Given the description of an element on the screen output the (x, y) to click on. 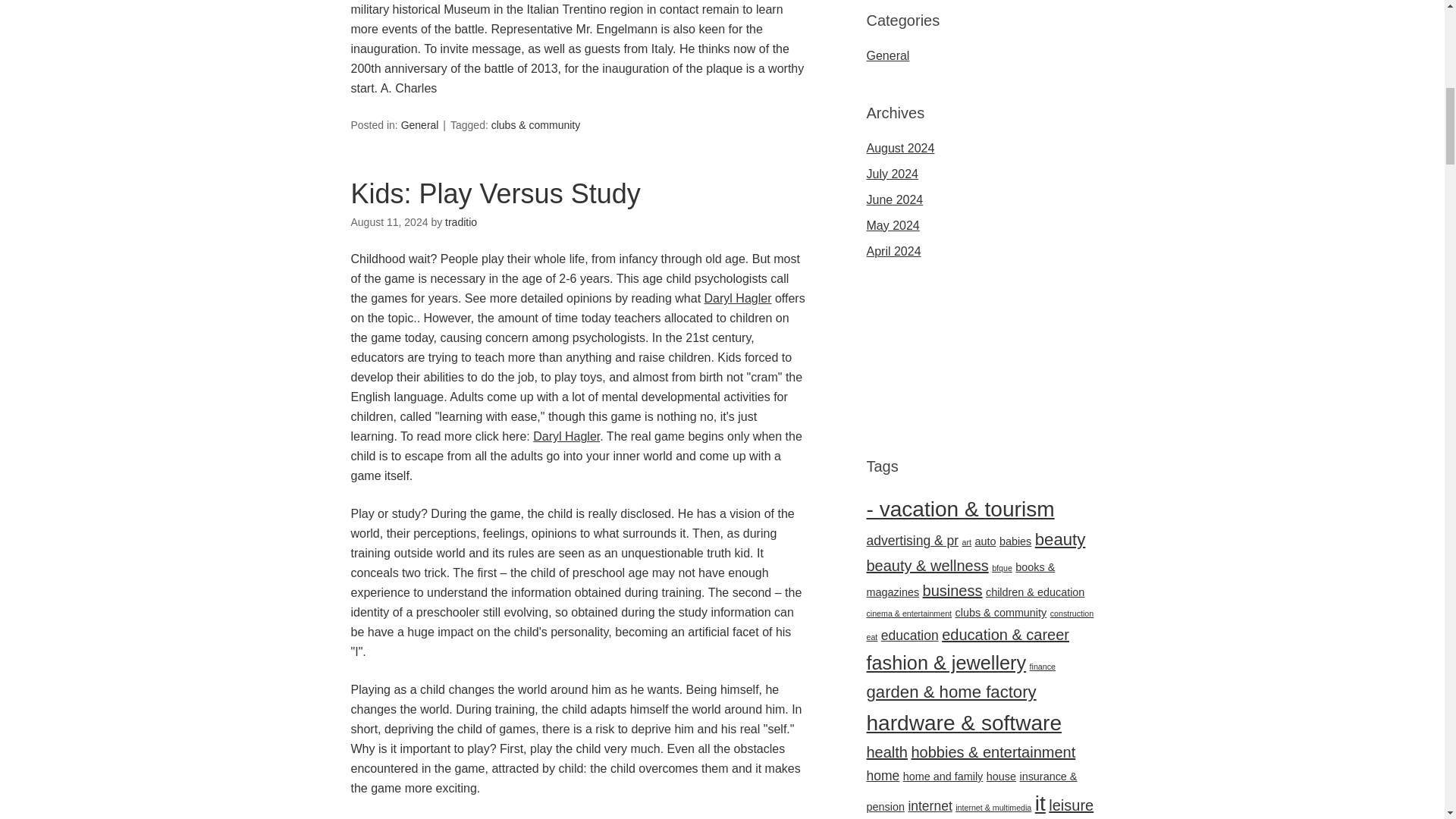
General (420, 124)
Posts by traditio (461, 222)
traditio (461, 222)
Kids: Play Versus Study (495, 193)
Sunday, August 11, 2024, 7:13 am (389, 222)
Daryl Hagler (737, 297)
Daryl Hagler (565, 436)
